Given the description of an element on the screen output the (x, y) to click on. 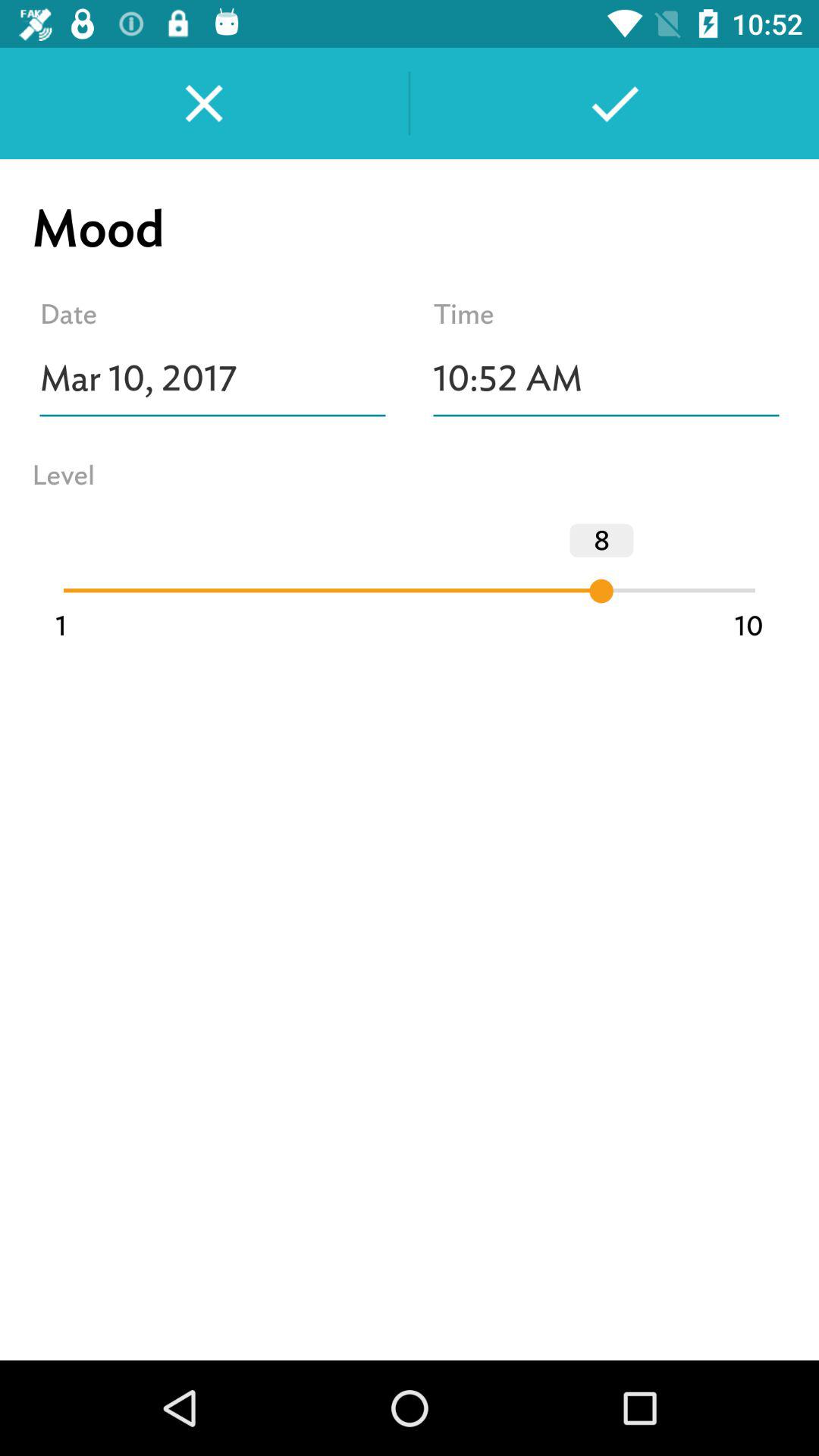
select the text field below date on the web page (212, 378)
select 1052 am below time (606, 378)
